Given the description of an element on the screen output the (x, y) to click on. 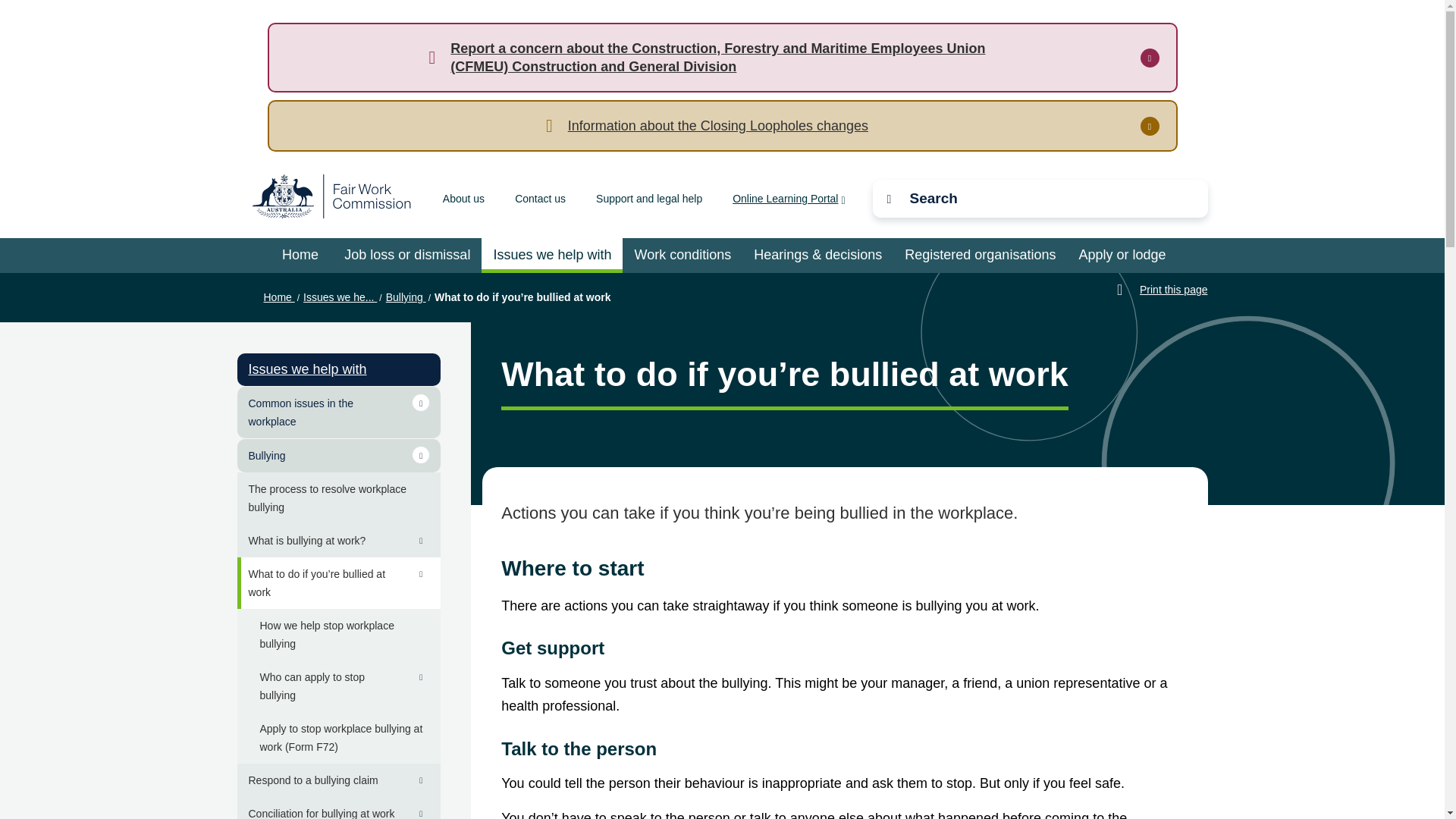
Work conditions (682, 255)
Job loss or dismissal (407, 255)
Support and legal help (648, 198)
Seach (1003, 196)
Contact us (540, 198)
Job loss or dismissal (407, 255)
About us (463, 198)
Close the message (1149, 57)
Close the message (1149, 126)
Online Learning Portal (788, 198)
